Given the description of an element on the screen output the (x, y) to click on. 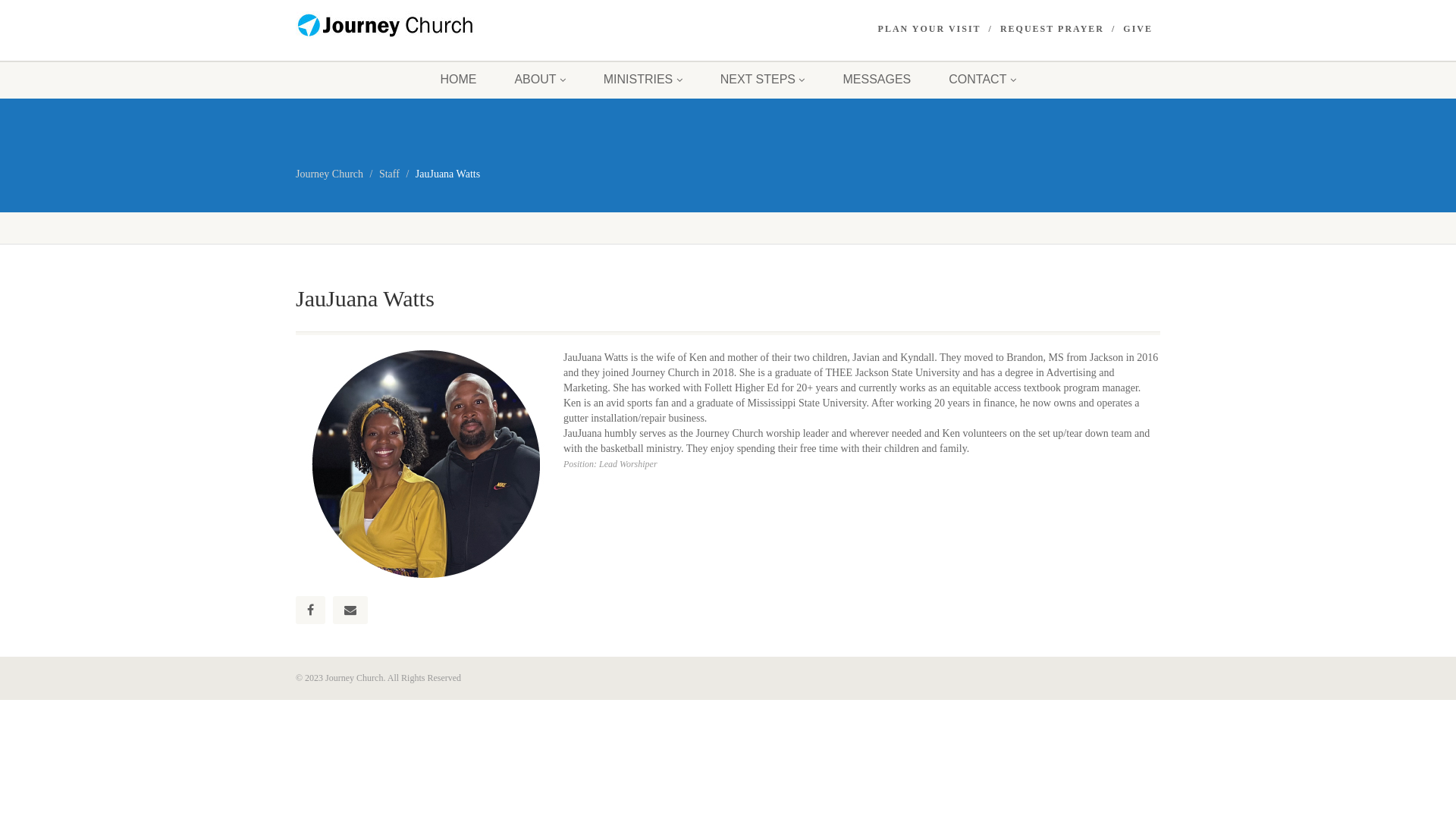
NEXT STEPS Element type: text (762, 79)
GIVE Element type: text (1137, 28)
Staff Element type: text (389, 173)
REQUEST PRAYER Element type: text (1052, 28)
HOME Element type: text (457, 79)
ABOUT Element type: text (539, 79)
MESSAGES Element type: text (876, 79)
PLAN YOUR VISIT Element type: text (929, 28)
Journey Church Element type: text (329, 173)
MINISTRIES Element type: text (642, 79)
Journey Church Logo Element type: hover (431, 24)
CONTACT Element type: text (981, 79)
